Given the description of an element on the screen output the (x, y) to click on. 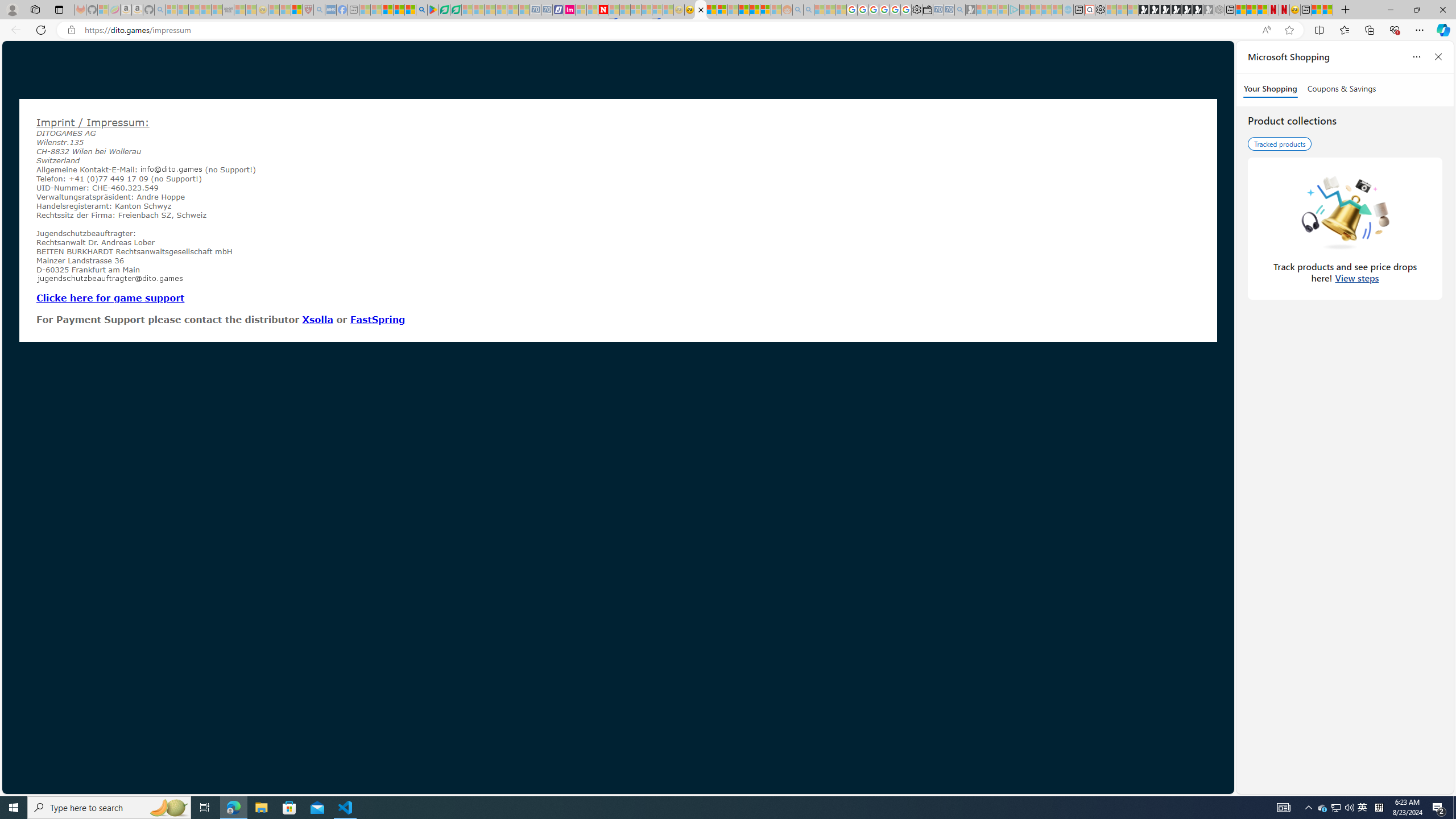
FastSpring (377, 319)
Robert H. Shmerling, MD - Harvard Health - Sleeping (307, 9)
Cheap Hotels - Save70.com - Sleeping (546, 9)
Play Free Online Games | Games from Microsoft Start (1144, 9)
Play Cave FRVR in your browser | Games from Microsoft Start (1164, 9)
Microsoft Start Gaming - Sleeping (970, 9)
